Given the description of an element on the screen output the (x, y) to click on. 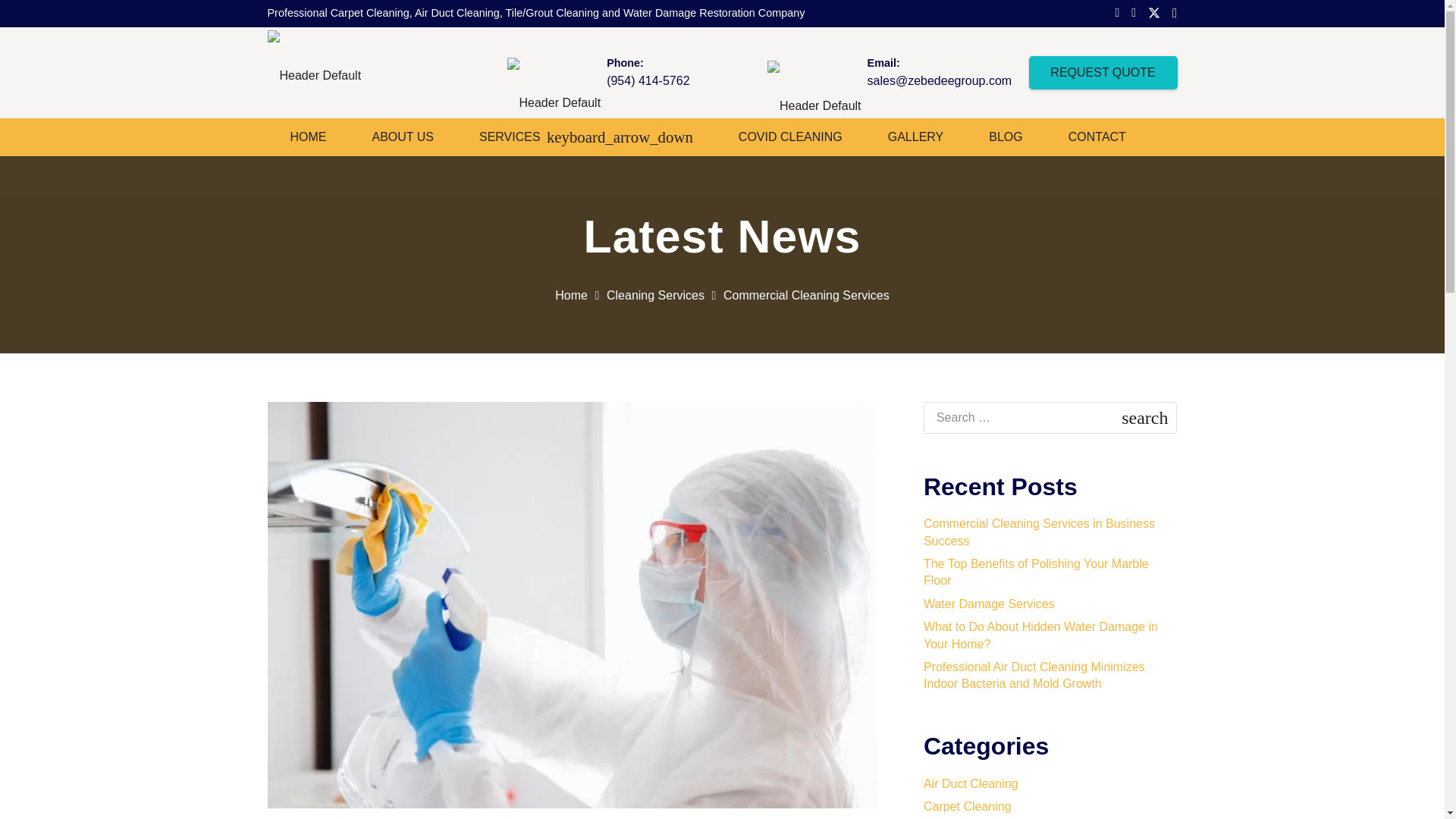
GALLERY (915, 136)
Home (571, 295)
Cleaning Services (655, 295)
REQUEST QUOTE (1103, 73)
SERVICES (586, 136)
CONTACT (1096, 136)
BLOG (1005, 136)
HOME (307, 136)
Twitter (1154, 12)
Commercial Cleaning Services (806, 295)
